Given the description of an element on the screen output the (x, y) to click on. 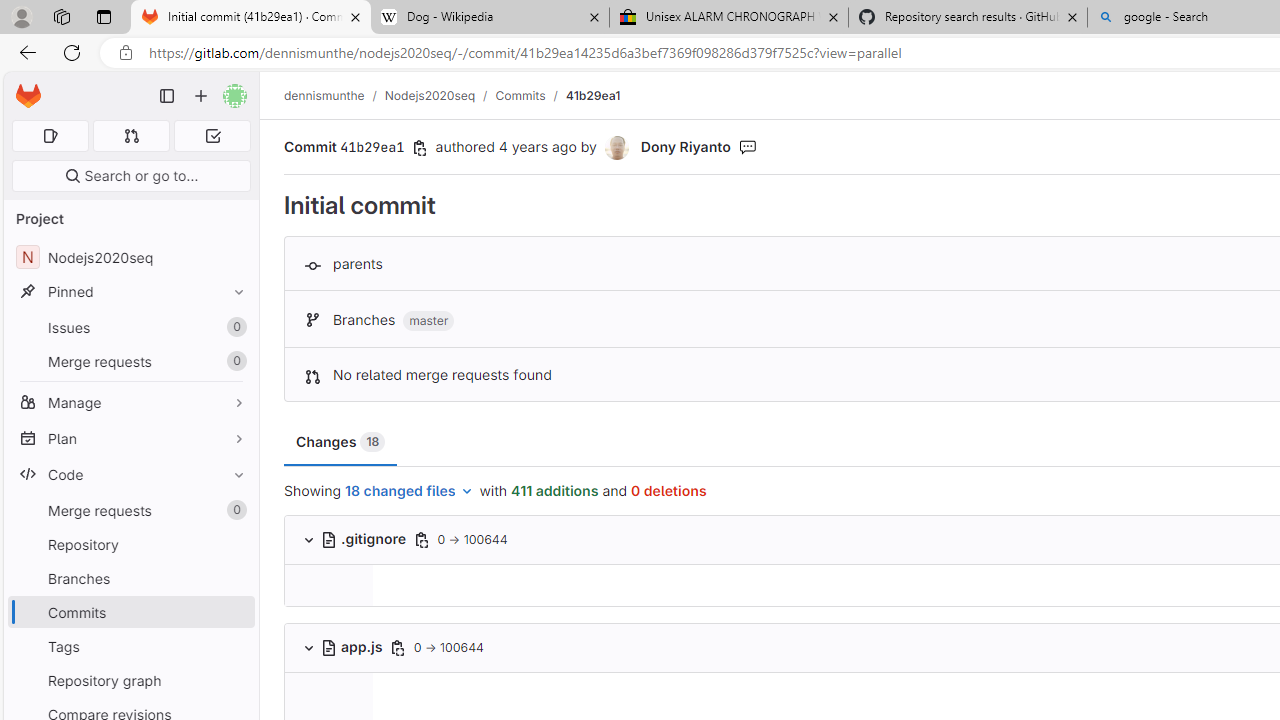
NNodejs2020seq (130, 257)
Pin Commits (234, 611)
Create new... (201, 96)
Commits (130, 612)
Dony Riyanto's avatar (618, 148)
18 changed files (410, 491)
Assigned issues 0 (50, 136)
Issues0 (130, 327)
